Given the description of an element on the screen output the (x, y) to click on. 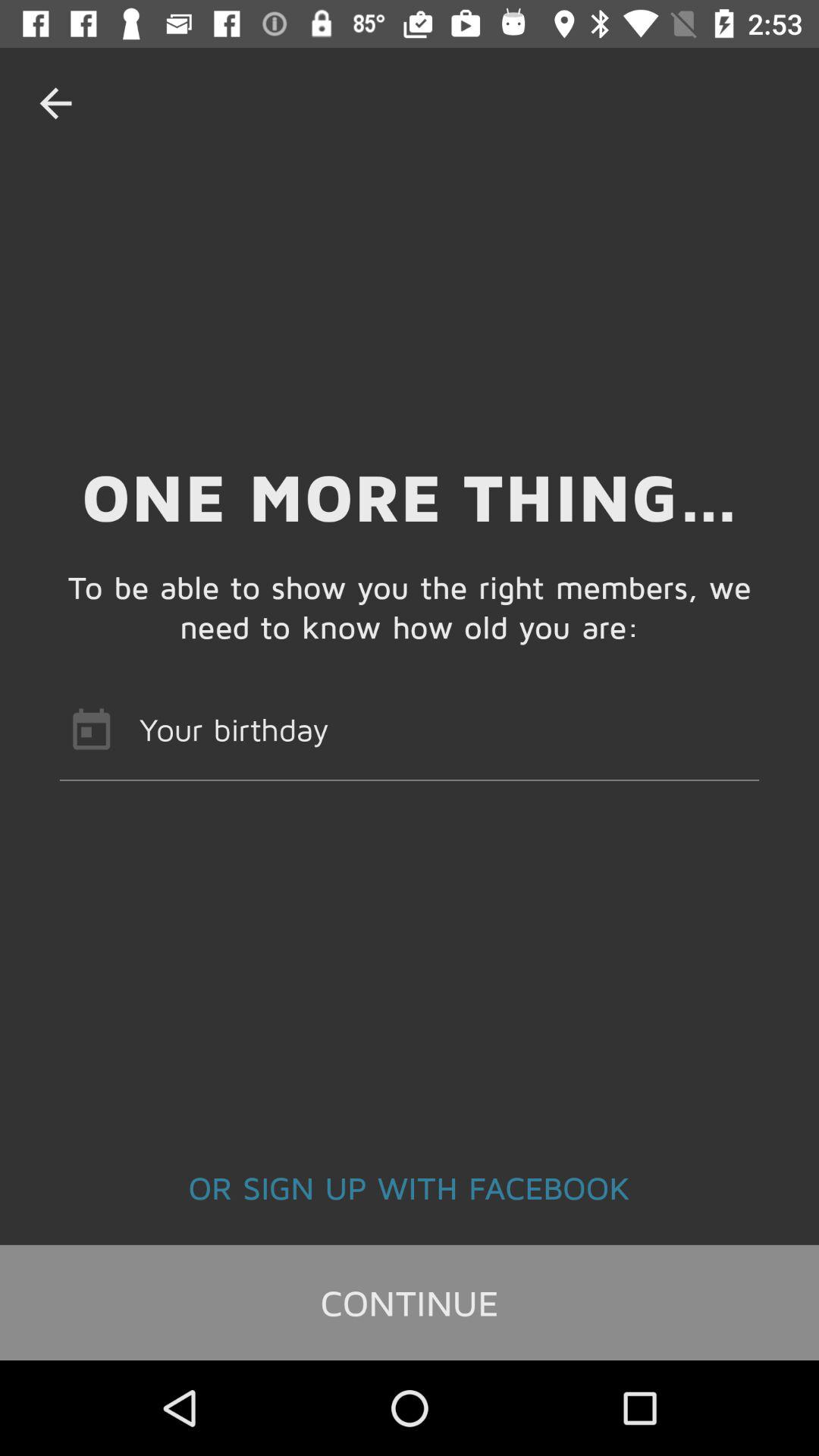
click item above or sign up (409, 728)
